Given the description of an element on the screen output the (x, y) to click on. 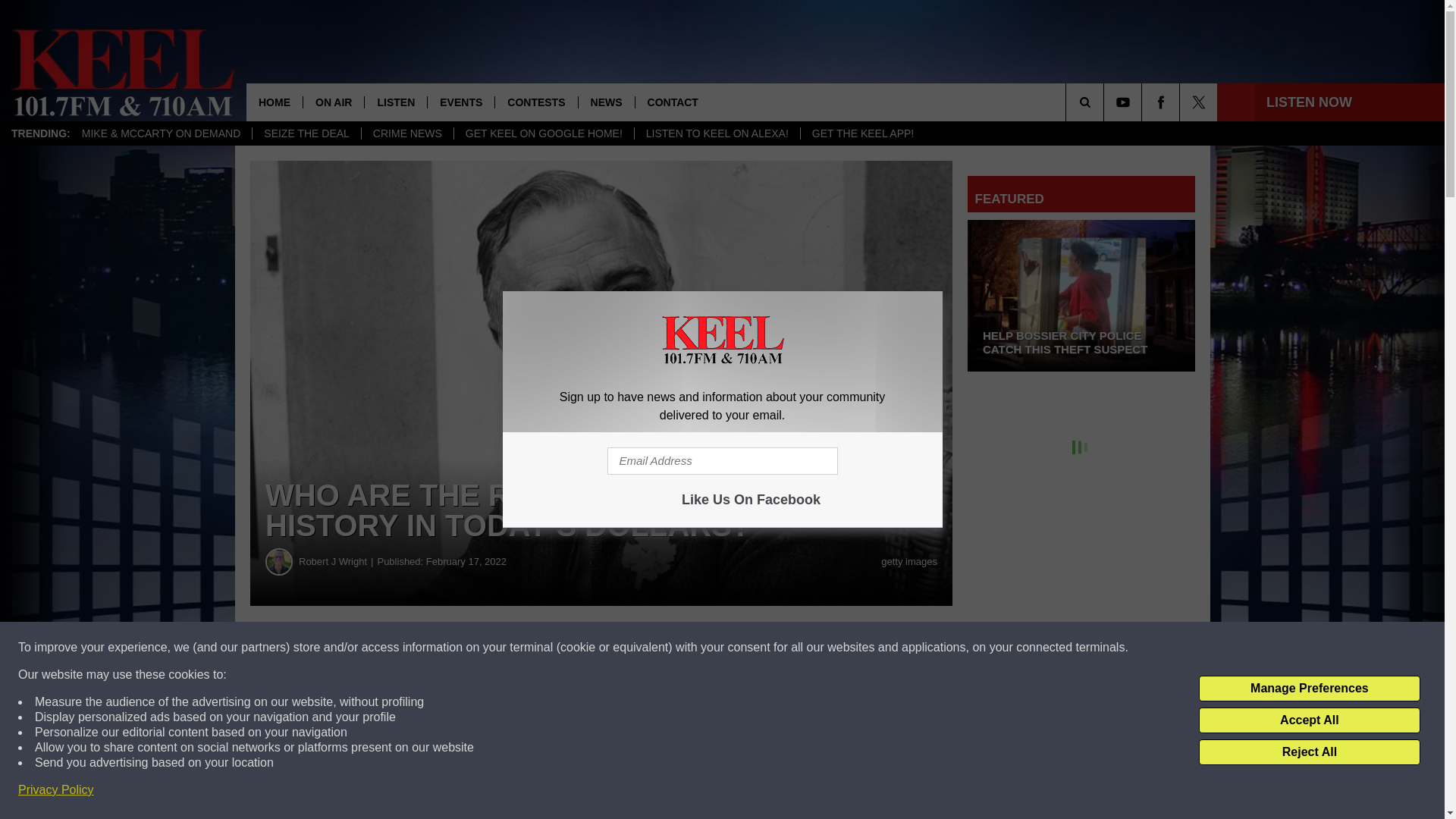
Email Address (722, 461)
Manage Preferences (1309, 688)
SEARCH (1106, 102)
GET THE KEEL APP! (861, 133)
Reject All (1309, 751)
HOME (274, 102)
SEARCH (1106, 102)
NEWS (606, 102)
CRIME NEWS (406, 133)
ON AIR (333, 102)
EVENTS (460, 102)
Share on Twitter (741, 647)
Share on Facebook (460, 647)
Privacy Policy (55, 789)
LISTEN TO KEEL ON ALEXA! (716, 133)
